Given the description of an element on the screen output the (x, y) to click on. 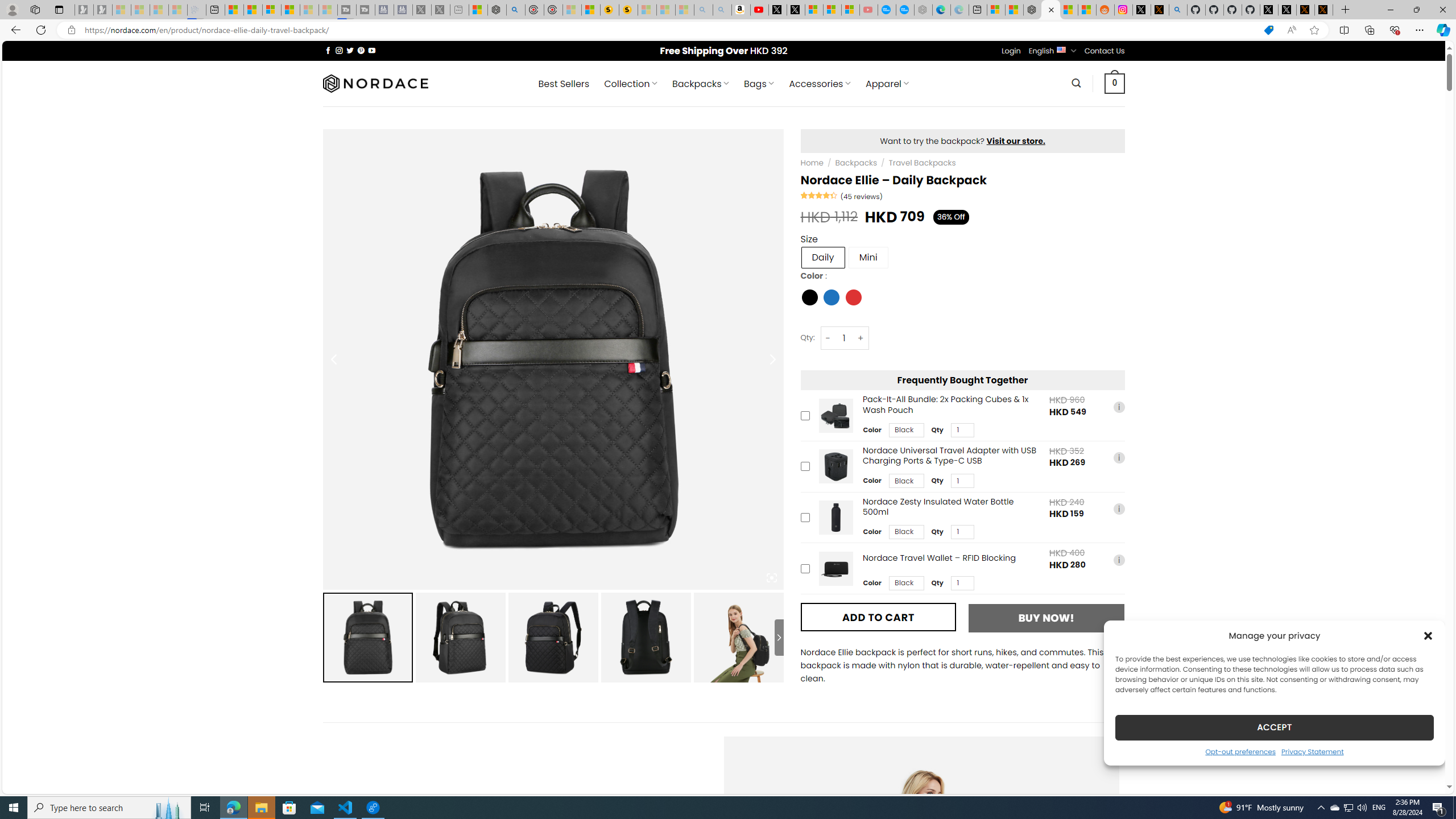
Newsletter Sign Up - Sleeping (102, 9)
Rated 4.33 out of 5 (819, 194)
Mini (868, 257)
  Best Sellers (563, 83)
Overview (271, 9)
Travel Backpacks (922, 162)
Shanghai, China Weather trends | Microsoft Weather (1086, 9)
Home (812, 162)
Class: upsell-v2-product-upsell-variable-product-qty-select (962, 582)
